Given the description of an element on the screen output the (x, y) to click on. 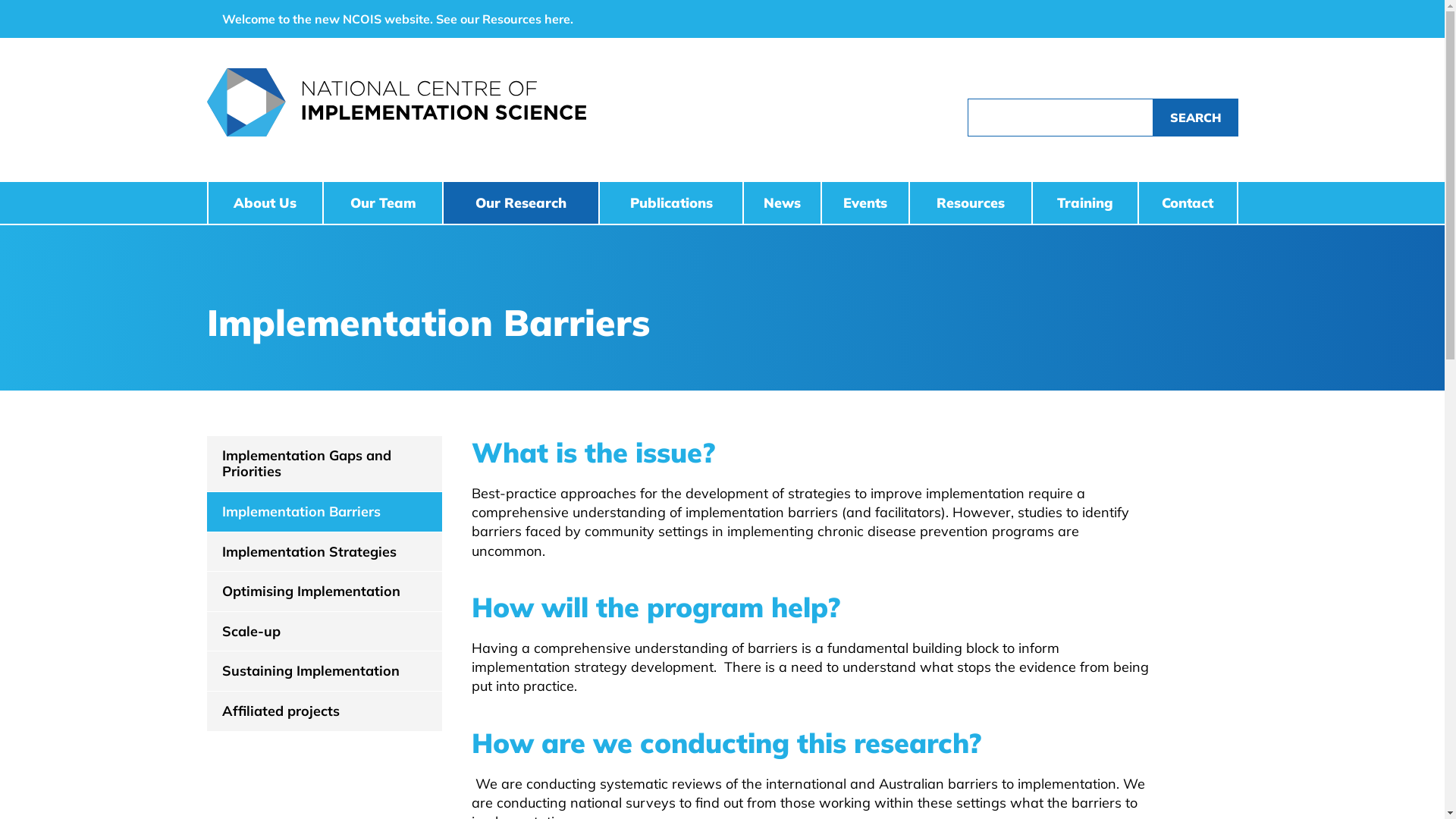
Sustaining Implementation Element type: text (324, 670)
Affiliated projects Element type: text (324, 711)
Search Element type: text (1194, 117)
Implementation Strategies Element type: text (324, 551)
Resources Element type: text (970, 202)
Welcome to the new NCOIS website. See our Resources here. Element type: text (396, 18)
National Centre of Implementation Science Element type: hover (511, 102)
Implementation Barriers Element type: text (324, 511)
Optimising Implementation Element type: text (324, 591)
Skip to content Element type: text (0, 0)
Events Element type: text (865, 202)
News Element type: text (782, 202)
Our Research Element type: text (520, 202)
Implementation Gaps and Priorities Element type: text (324, 463)
Training Element type: text (1084, 202)
Contact Element type: text (1187, 202)
Publications Element type: text (671, 202)
Scale-up Element type: text (324, 631)
Our Team Element type: text (382, 202)
About Us Element type: text (264, 202)
